Given the description of an element on the screen output the (x, y) to click on. 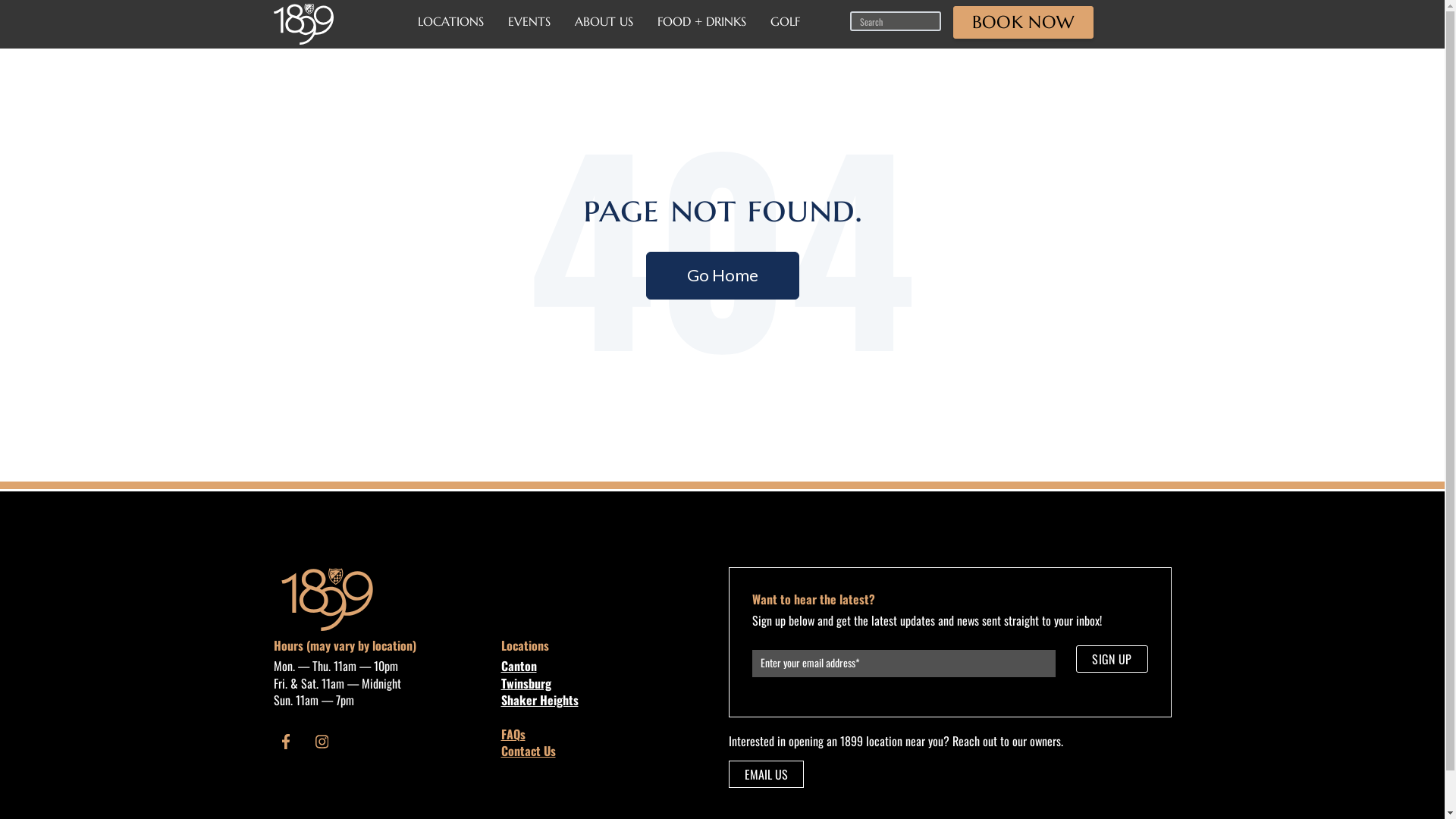
ABOUT US Element type: text (603, 20)
Go Home Element type: text (722, 275)
GOLF Element type: text (785, 20)
SIGN UP Element type: text (1111, 658)
Twinsburg Element type: text (607, 682)
EVENTS Element type: text (529, 20)
FAQs Element type: text (512, 733)
EMAIL US Element type: text (765, 773)
Contact Us Element type: text (527, 750)
Canton Element type: text (607, 665)
Shaker Heights Element type: text (607, 699)
LOCATIONS Element type: text (450, 20)
FOOD + DRINKS Element type: text (700, 20)
